Given the description of an element on the screen output the (x, y) to click on. 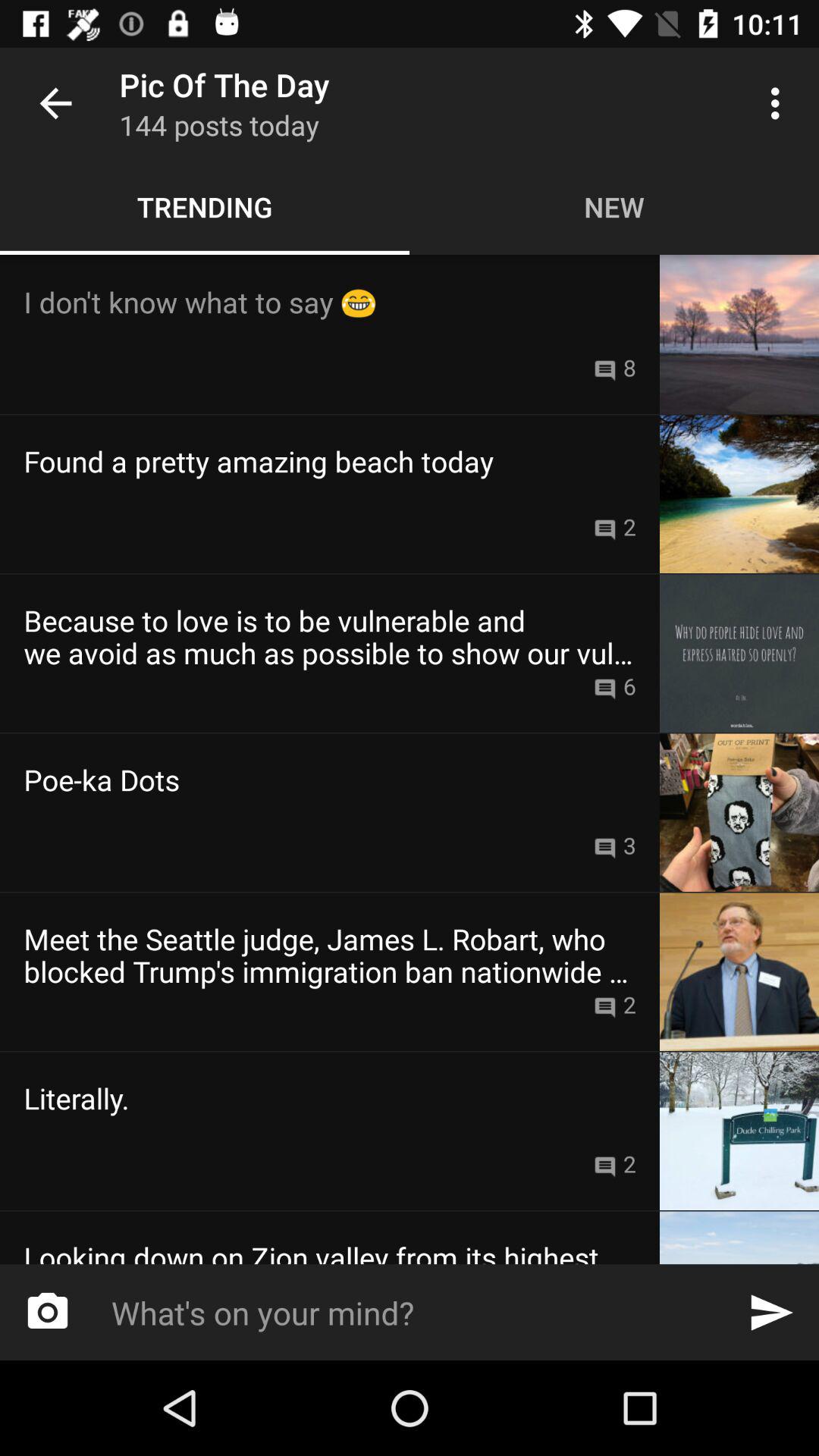
choose item at the bottom left corner (47, 1312)
